Given the description of an element on the screen output the (x, y) to click on. 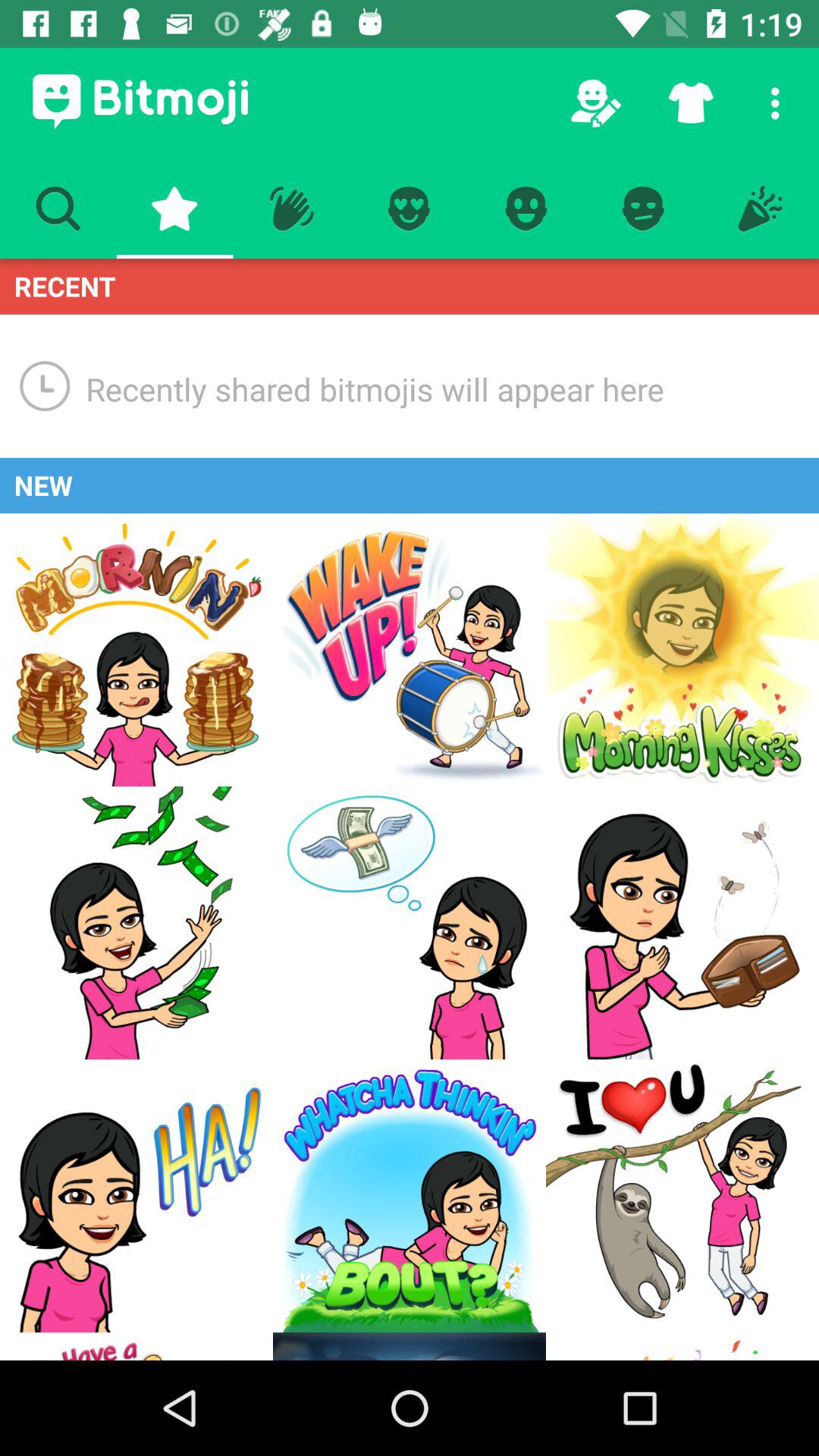
see image (682, 649)
